Given the description of an element on the screen output the (x, y) to click on. 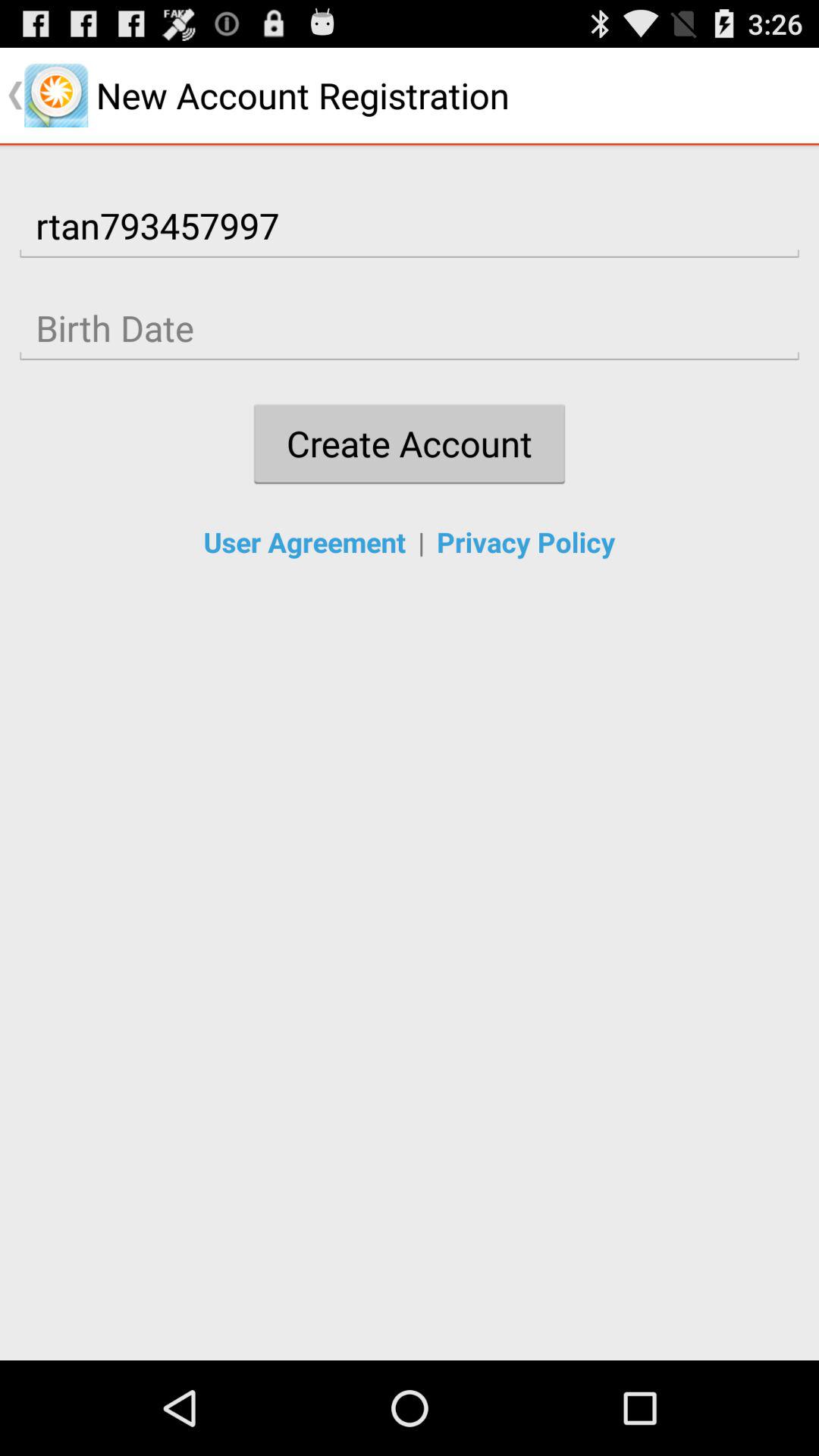
date of birth (409, 328)
